Given the description of an element on the screen output the (x, y) to click on. 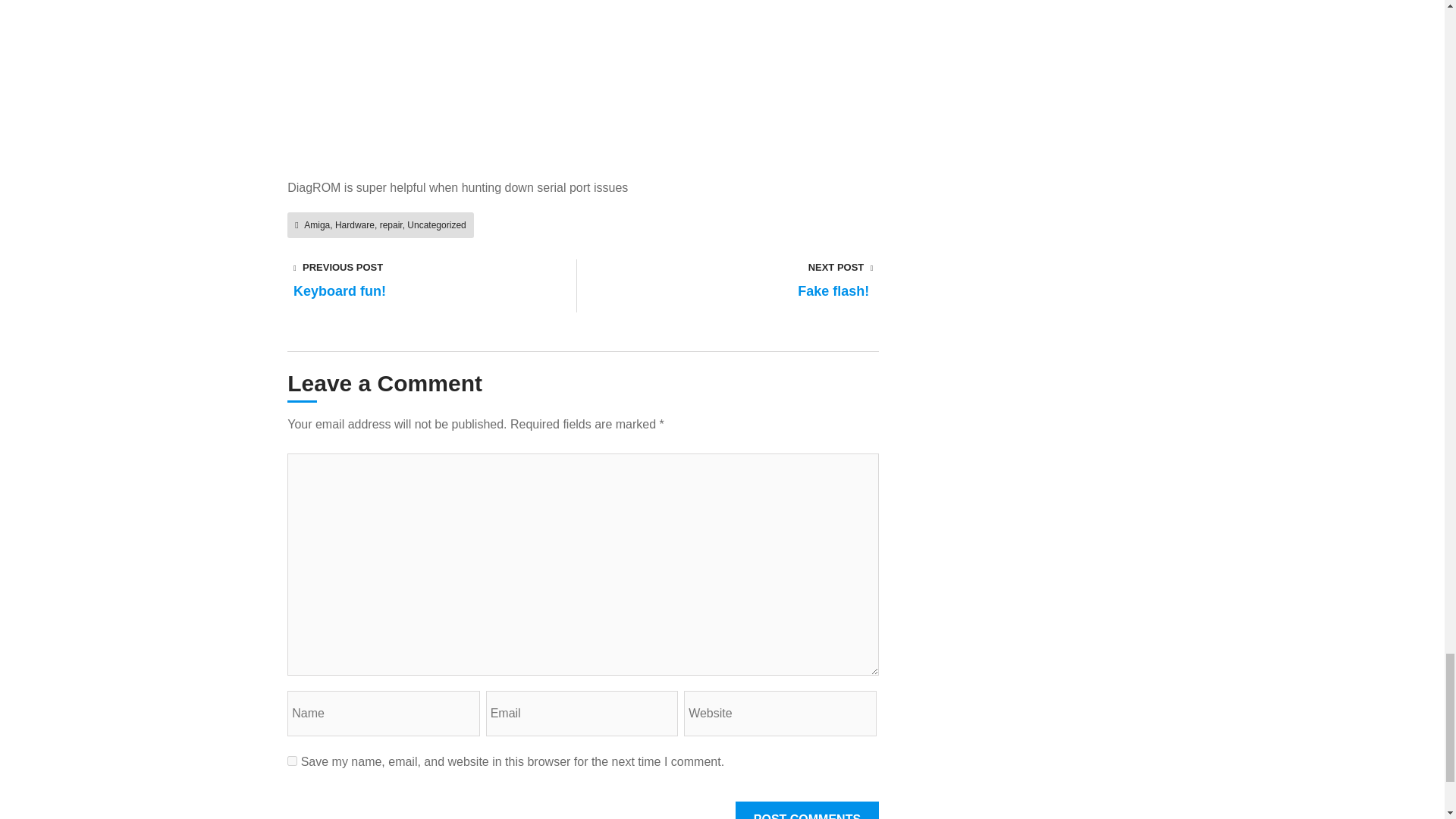
Amiga (317, 225)
Hardware (354, 225)
Keyboard fun! (345, 294)
Post Comments (807, 810)
Uncategorized (436, 225)
Post Comments (807, 810)
yes (291, 760)
Fake flash!  (829, 294)
repair (391, 225)
